Given the description of an element on the screen output the (x, y) to click on. 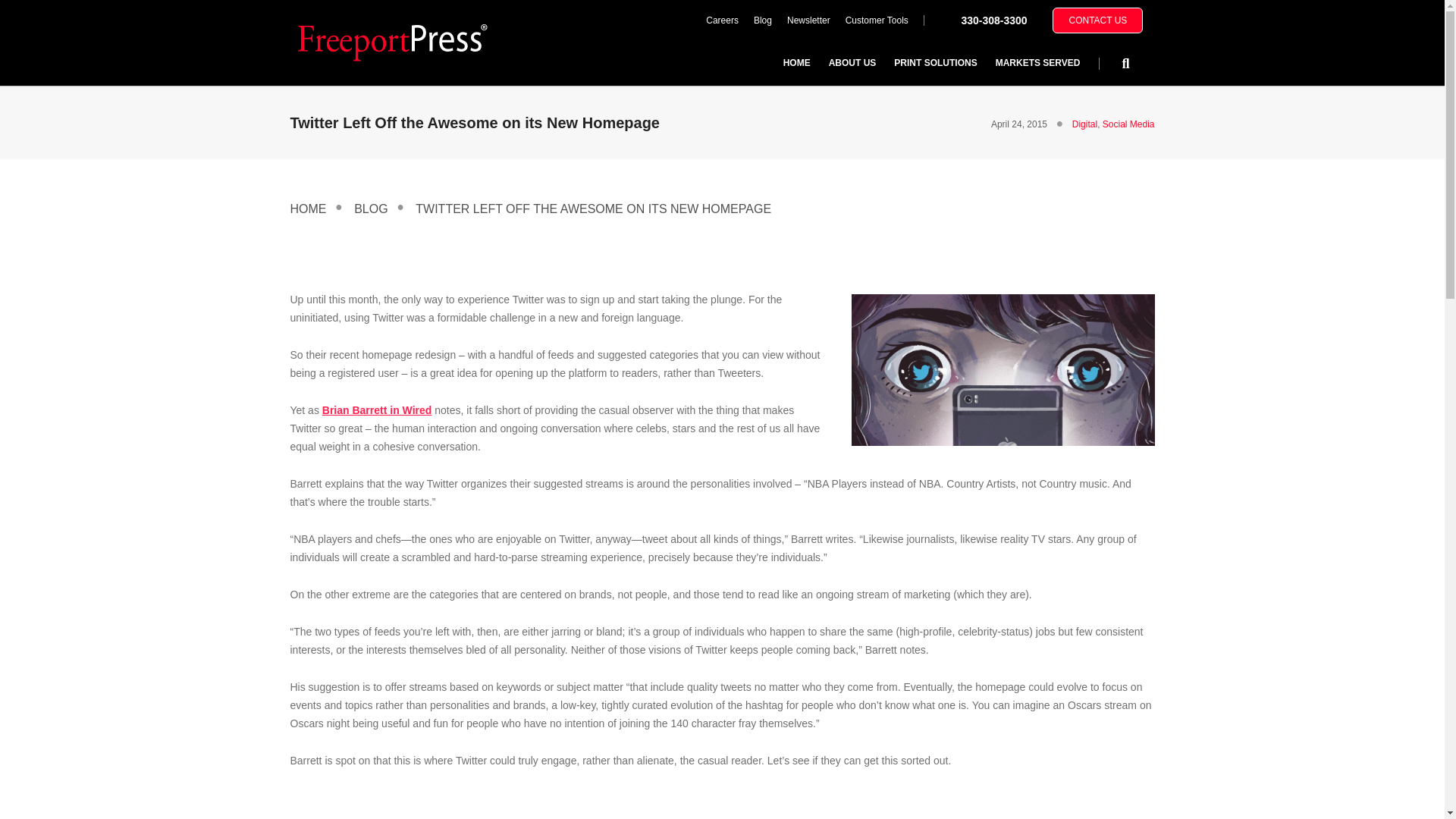
PRINT SOLUTIONS (935, 62)
Careers (721, 20)
Newsletter (808, 20)
Customer Tools (876, 20)
Blog (761, 20)
ABOUT US (852, 62)
MARKETS SERVED (1038, 62)
330-308-3300 (993, 20)
HOME (796, 62)
CONTACT US (1097, 20)
